Given the description of an element on the screen output the (x, y) to click on. 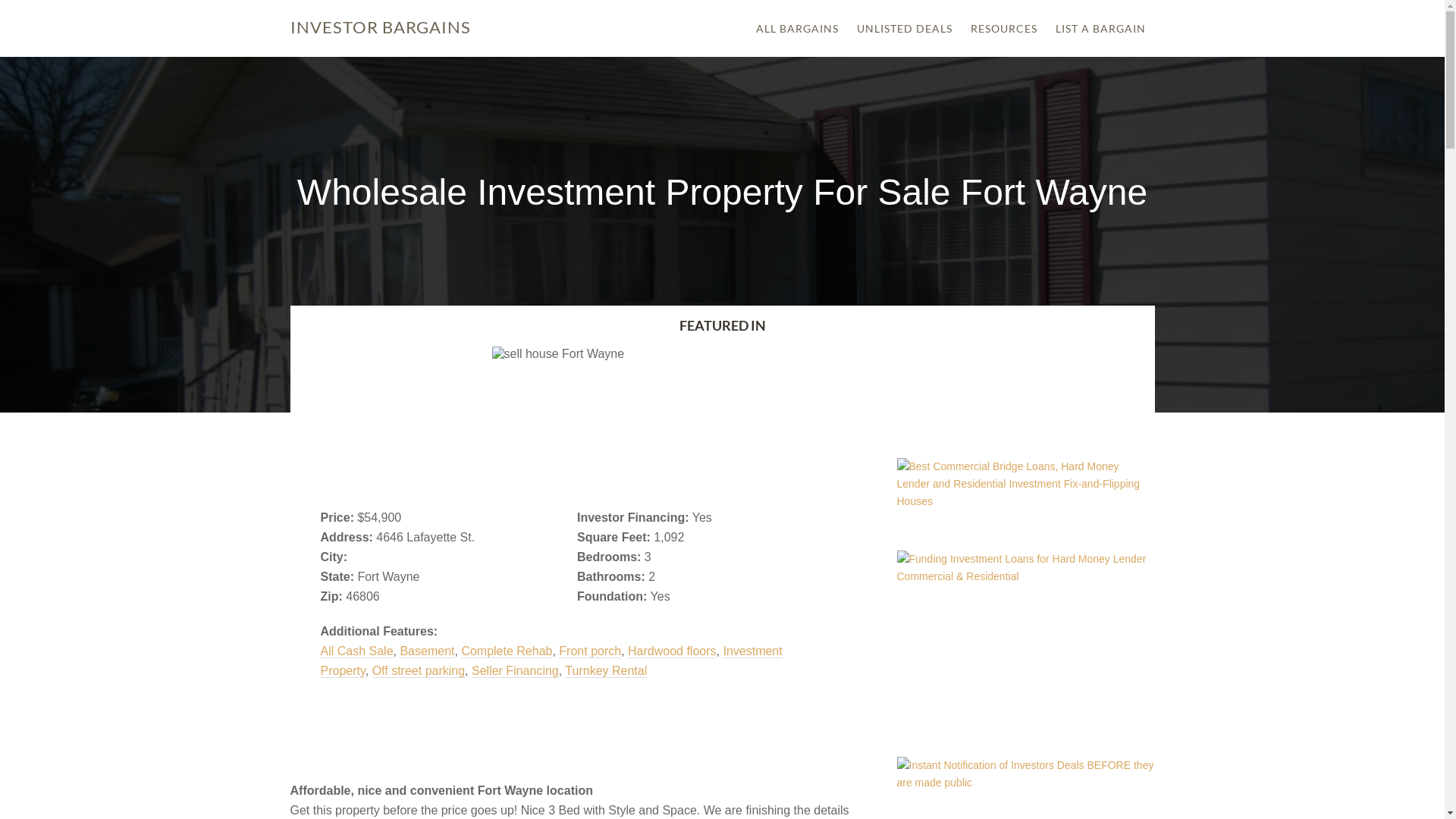
Basement Element type: text (426, 651)
Seller Financing Element type: text (514, 670)
RESOURCES Element type: text (1003, 28)
ALL BARGAINS Element type: text (796, 28)
UNLISTED DEALS Element type: text (904, 28)
All Cash Sale Element type: text (356, 651)
Front porch Element type: text (589, 651)
INVESTOR BARGAINS Element type: text (379, 26)
Complete Rehab Element type: text (506, 651)
Turnkey Rental Element type: text (605, 670)
Off street parking Element type: text (418, 670)
Hardwood floors Element type: text (671, 651)
Investment Property Element type: text (550, 660)
LIST A BARGAIN Element type: text (1100, 28)
